Given the description of an element on the screen output the (x, y) to click on. 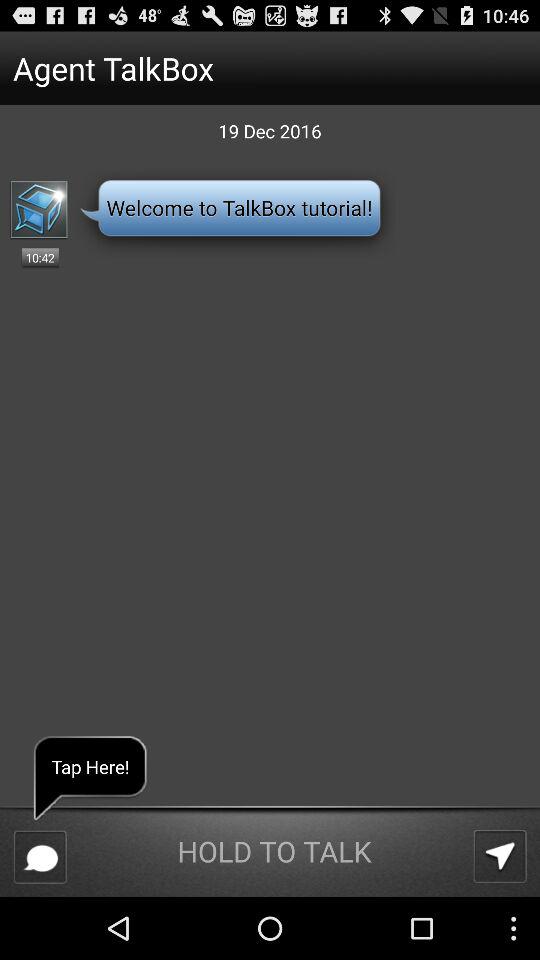
click item at the bottom right corner (499, 856)
